Given the description of an element on the screen output the (x, y) to click on. 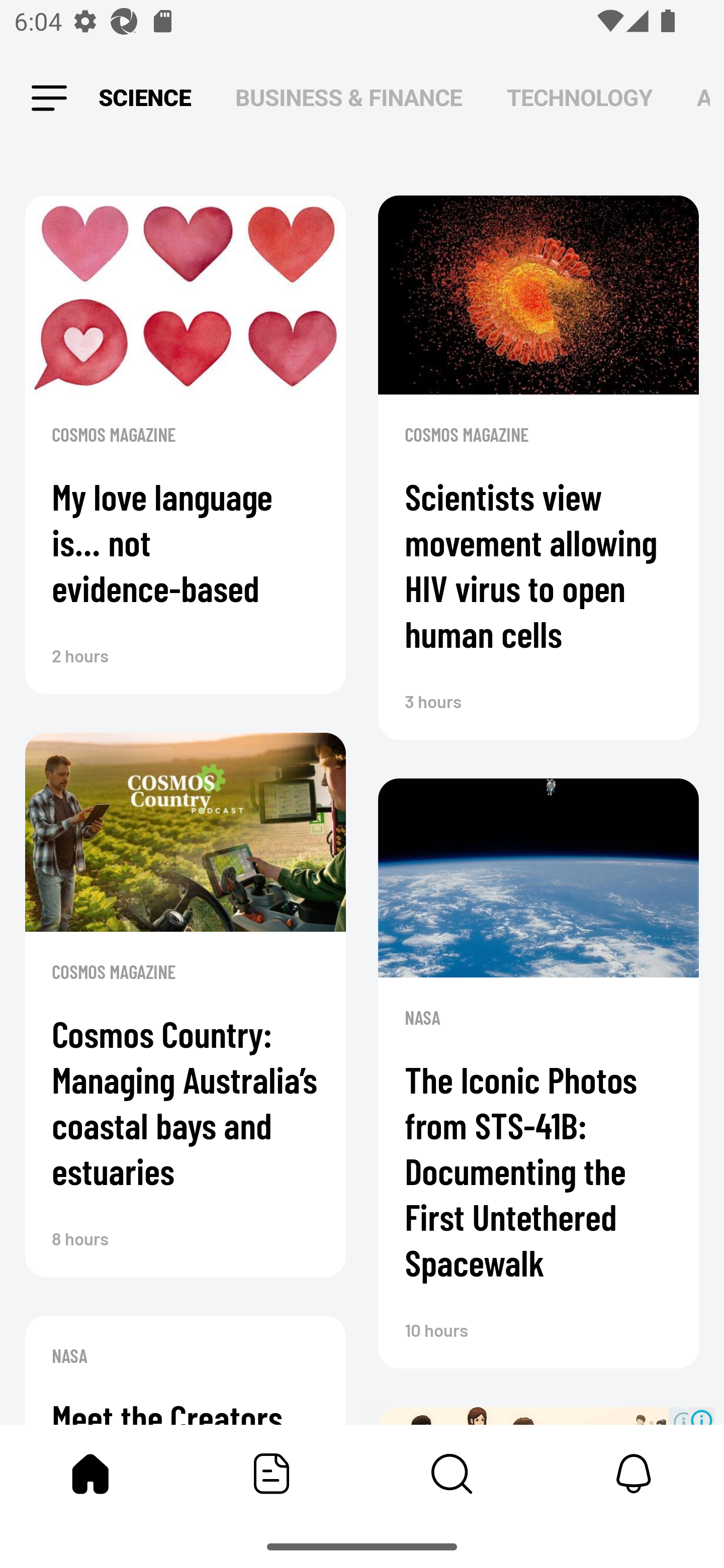
Leading Icon (49, 98)
BUSINESS & FINANCE (348, 97)
TECHNOLOGY (579, 97)
Featured (271, 1473)
Content Store (452, 1473)
Notifications (633, 1473)
